Given the description of an element on the screen output the (x, y) to click on. 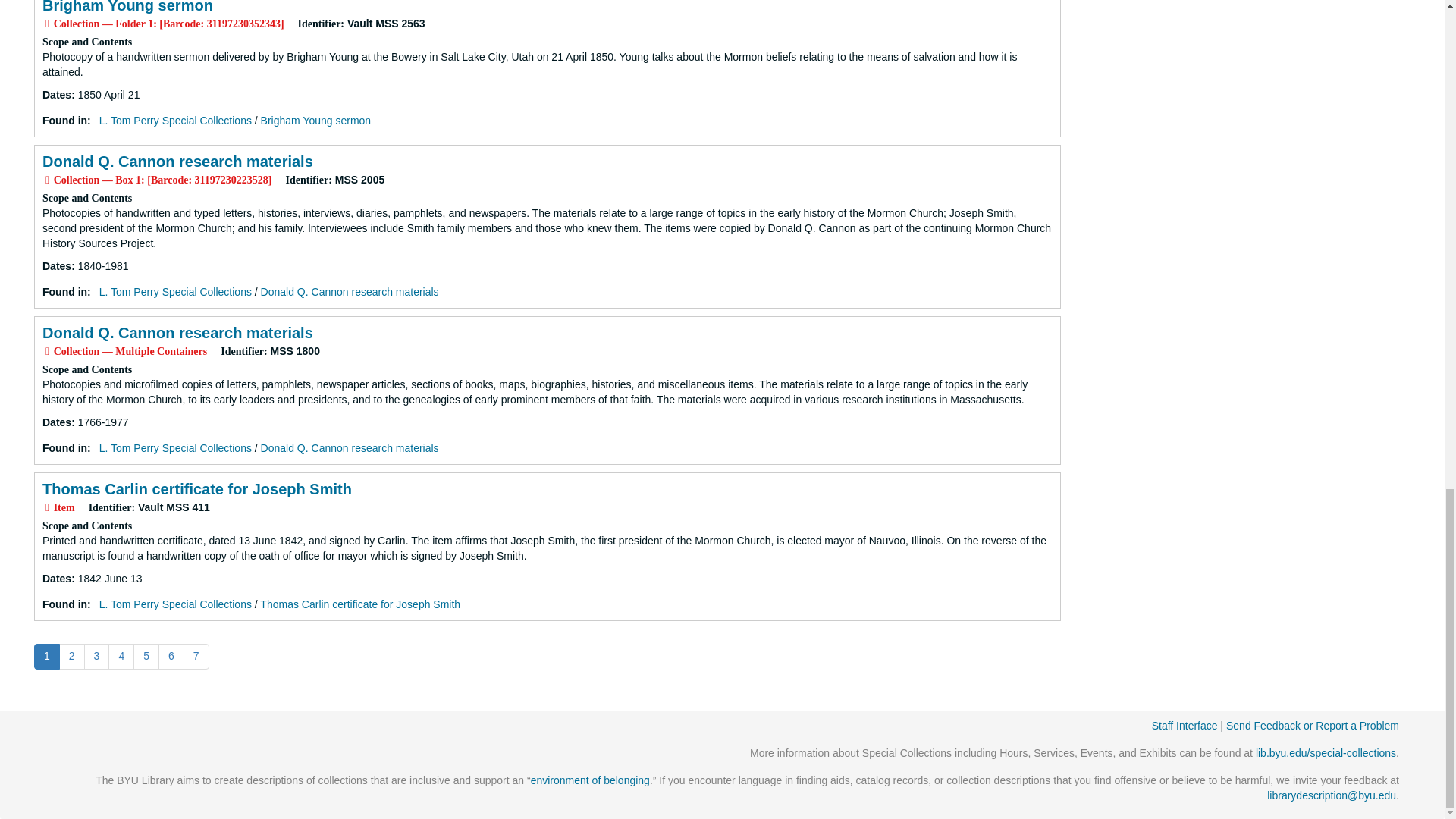
translation missing: en.dates (56, 265)
translation missing: en.dates (56, 94)
Donald Q. Cannon research materials (177, 161)
Brigham Young sermon (127, 6)
L. Tom Perry Special Collections (175, 120)
translation missing: en.dates (56, 578)
translation missing: en.dates (56, 422)
Brigham Young sermon (315, 120)
